Given the description of an element on the screen output the (x, y) to click on. 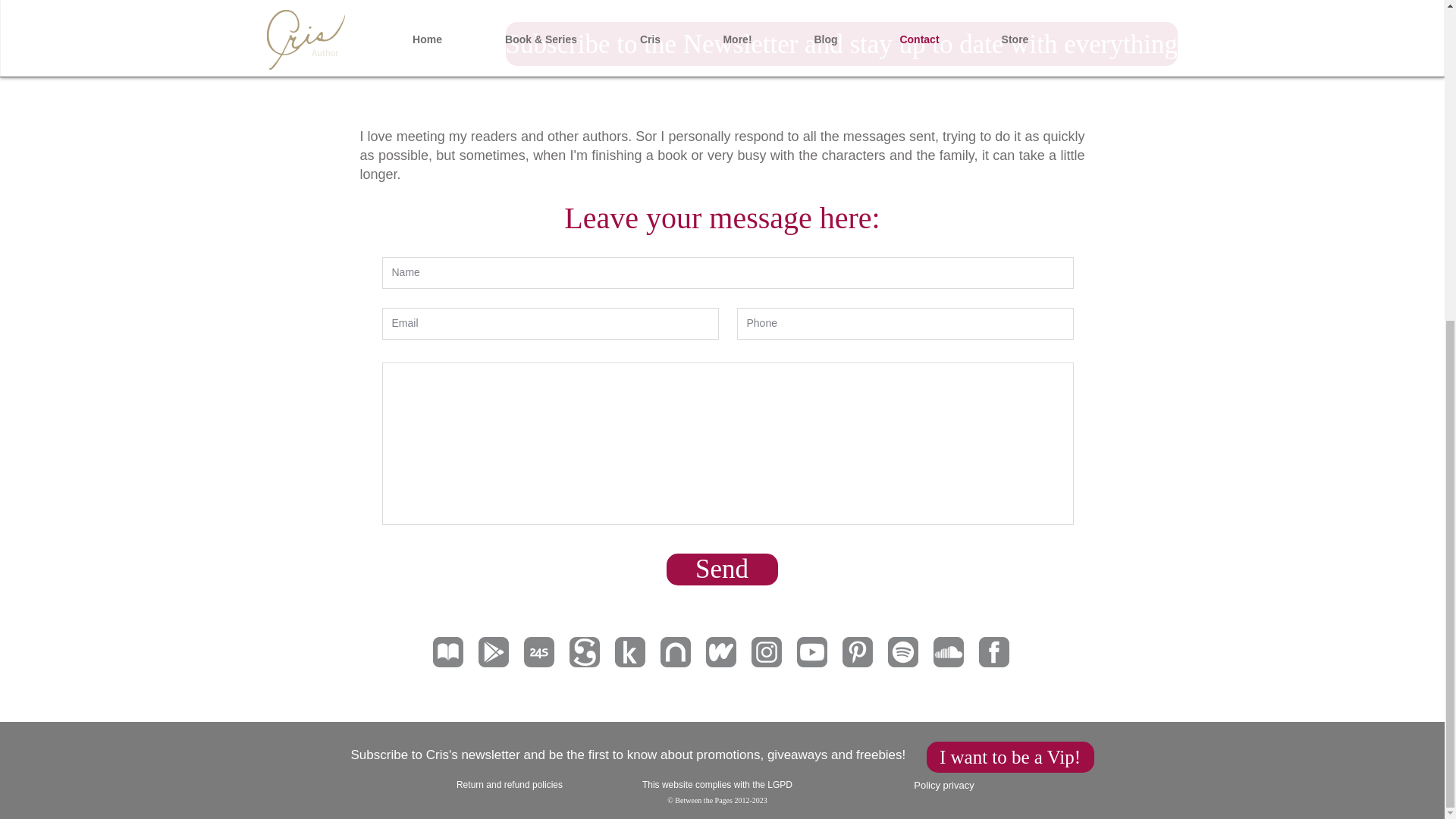
Return and refund policies (509, 784)
Send (721, 569)
Policy  (928, 785)
I want to be a Vip! (1010, 757)
